Given the description of an element on the screen output the (x, y) to click on. 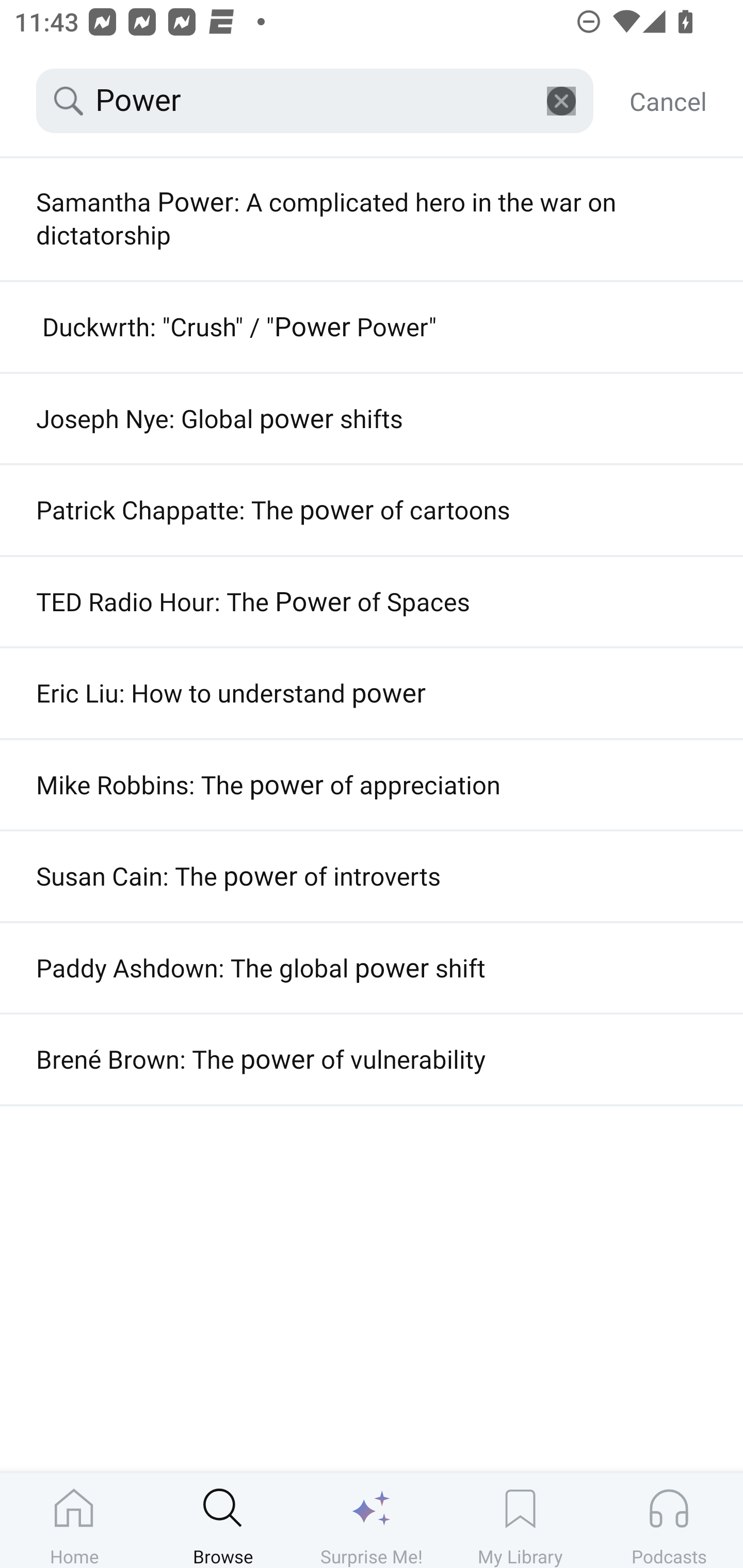
Power (314, 100)
Cancel (667, 100)
 Duckwrth: "Crush" / "Power Power" (371, 326)
Joseph Nye: Global power shifts (371, 418)
Patrick Chappatte: The power of cartoons (371, 510)
TED Radio Hour: The Power of Spaces (371, 601)
Eric Liu: How to understand power (371, 692)
Mike Robbins: The power of appreciation  (371, 784)
Susan Cain: The power of introverts (371, 876)
Paddy Ashdown: The global power shift (371, 967)
Brené Brown: The power of vulnerability (371, 1058)
Home (74, 1520)
Browse (222, 1520)
Surprise Me! (371, 1520)
My Library (519, 1520)
Podcasts (668, 1520)
